Given the description of an element on the screen output the (x, y) to click on. 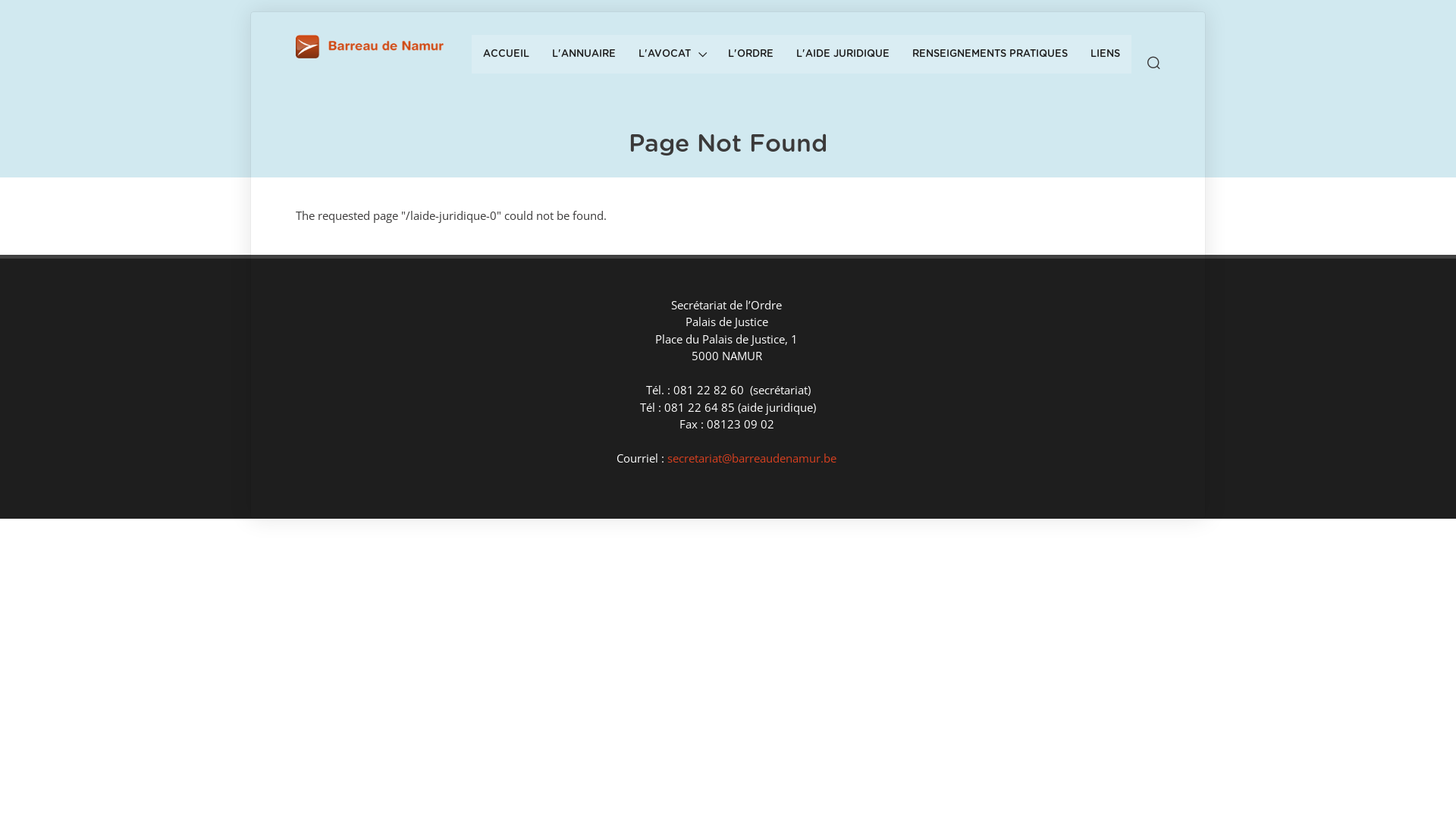
LIENS Element type: text (1105, 53)
L'AIDE JURIDIQUE Element type: text (842, 53)
L'AVOCAT Element type: text (671, 53)
L'ANNUAIRE Element type: text (583, 53)
Home Element type: hover (375, 46)
ACCUEIL Element type: text (505, 53)
Skip to main content Element type: text (0, 0)
L'ORDRE Element type: text (750, 53)
secretariat@barreaudenamur.be Element type: text (751, 457)
RENSEIGNEMENTS PRATIQUES Element type: text (989, 53)
